Given the description of an element on the screen output the (x, y) to click on. 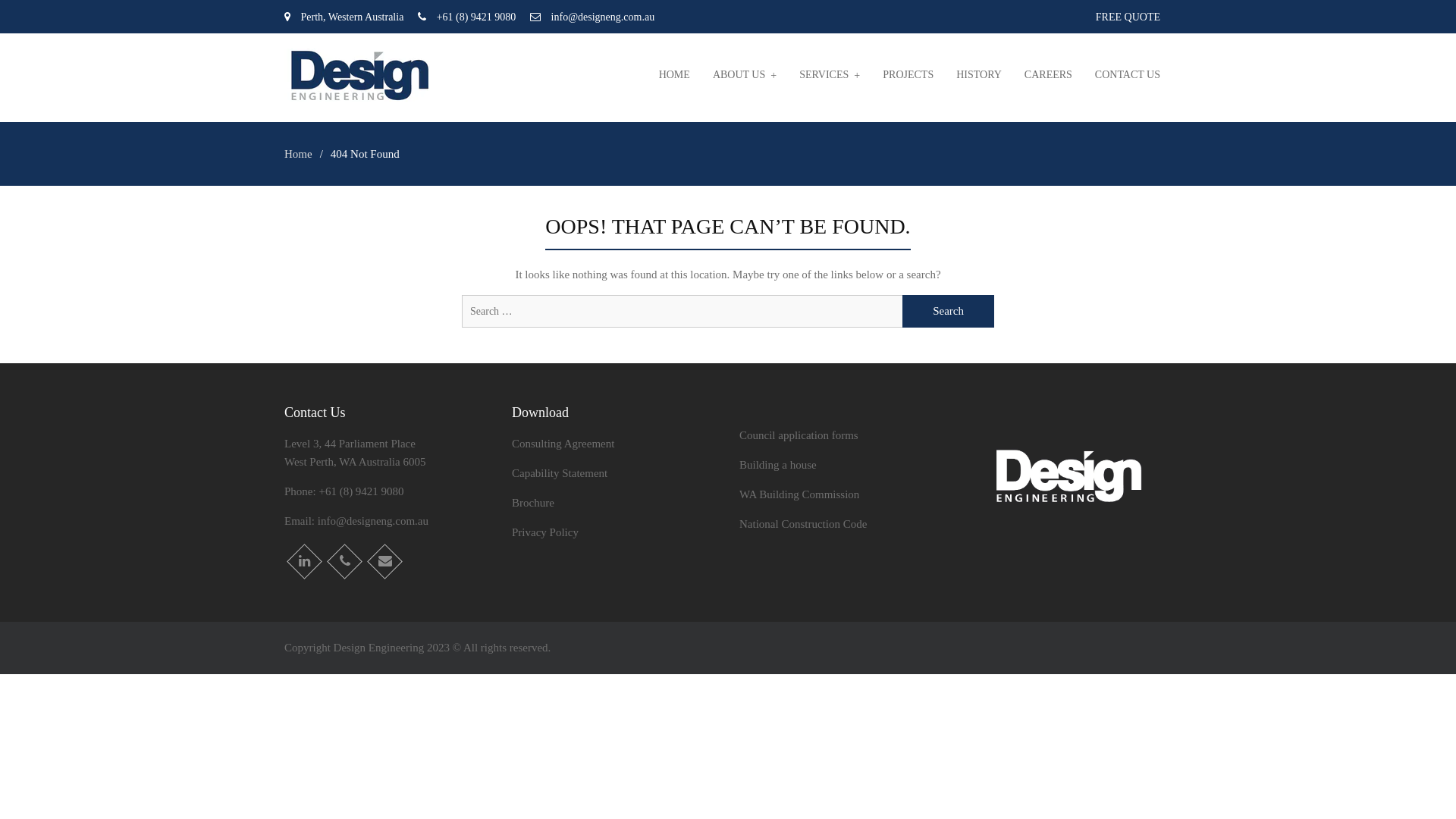
Council application forms Element type: text (798, 435)
+61 (8) 9421 9080 Element type: text (360, 491)
Privacy Policy Element type: text (544, 532)
HISTORY Element type: text (978, 74)
PROJECTS Element type: text (907, 74)
Building a house Element type: text (777, 464)
Consulting Agreement Element type: text (562, 443)
Search Element type: text (948, 310)
Email Element type: text (379, 555)
FREE QUOTE Element type: text (1127, 17)
National Construction Code Element type: text (802, 523)
Level 3, 44 Parliament Place Element type: text (349, 443)
CONTACT US Element type: text (1127, 74)
ABOUT US Element type: text (744, 74)
Brochure Element type: text (532, 502)
SERVICES Element type: text (829, 74)
LinkedIn Element type: text (298, 555)
HOME Element type: text (674, 74)
Capability Statement Element type: text (559, 473)
Phone Element type: text (338, 555)
info@designeng.com.au Element type: text (372, 520)
WA Building Commission Element type: text (799, 494)
CAREERS Element type: text (1048, 74)
Home Element type: text (298, 153)
